Given the description of an element on the screen output the (x, y) to click on. 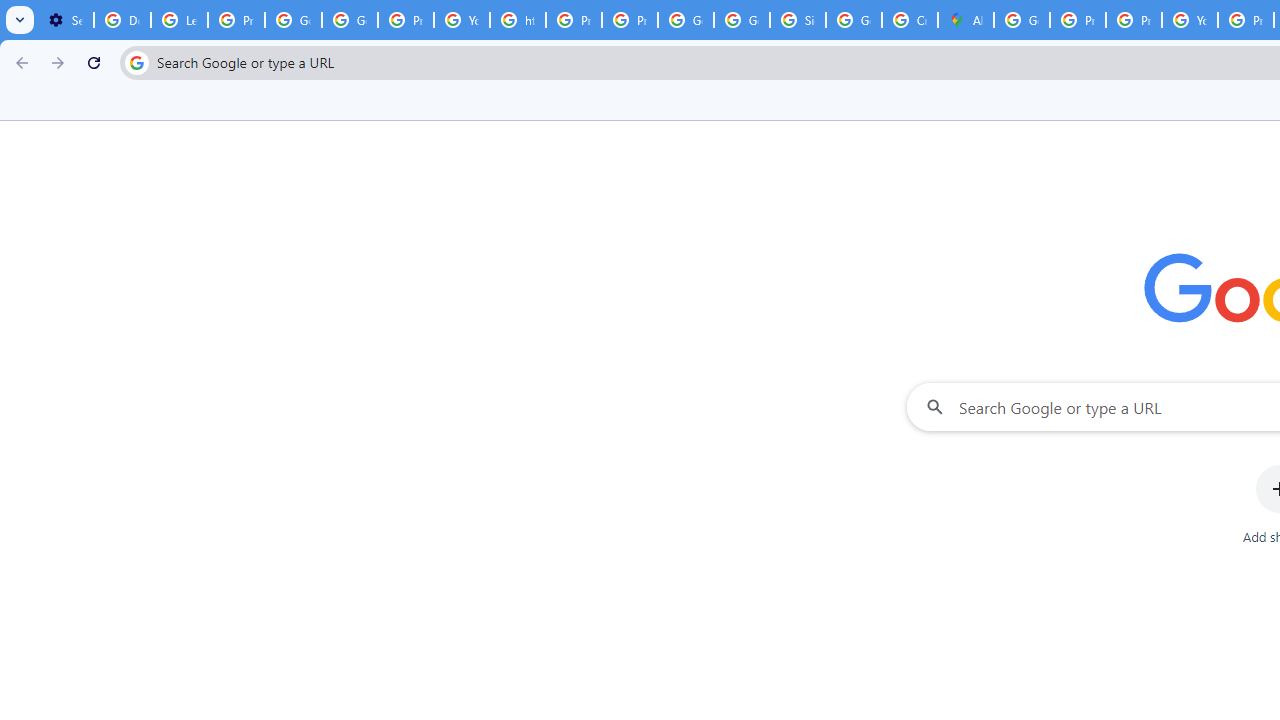
Google Account Help (293, 20)
Create your Google Account (909, 20)
Privacy Help Center - Policies Help (1077, 20)
Privacy Help Center - Policies Help (573, 20)
Sign in - Google Accounts (797, 20)
YouTube (461, 20)
